Given the description of an element on the screen output the (x, y) to click on. 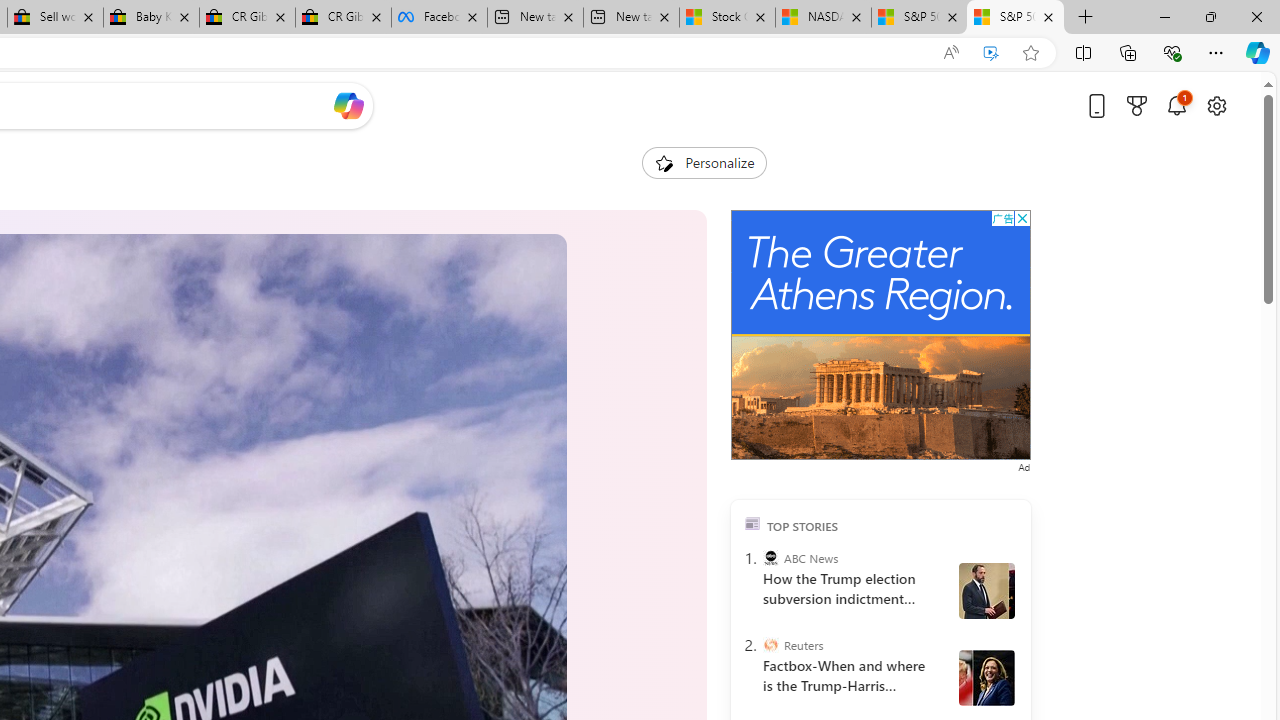
S&P 500, Nasdaq end lower, weighed by Nvidia dip | Watch (1015, 17)
Advertisement (879, 335)
Microsoft rewards (1137, 105)
Facebook (439, 17)
Personalize (703, 162)
